Given the description of an element on the screen output the (x, y) to click on. 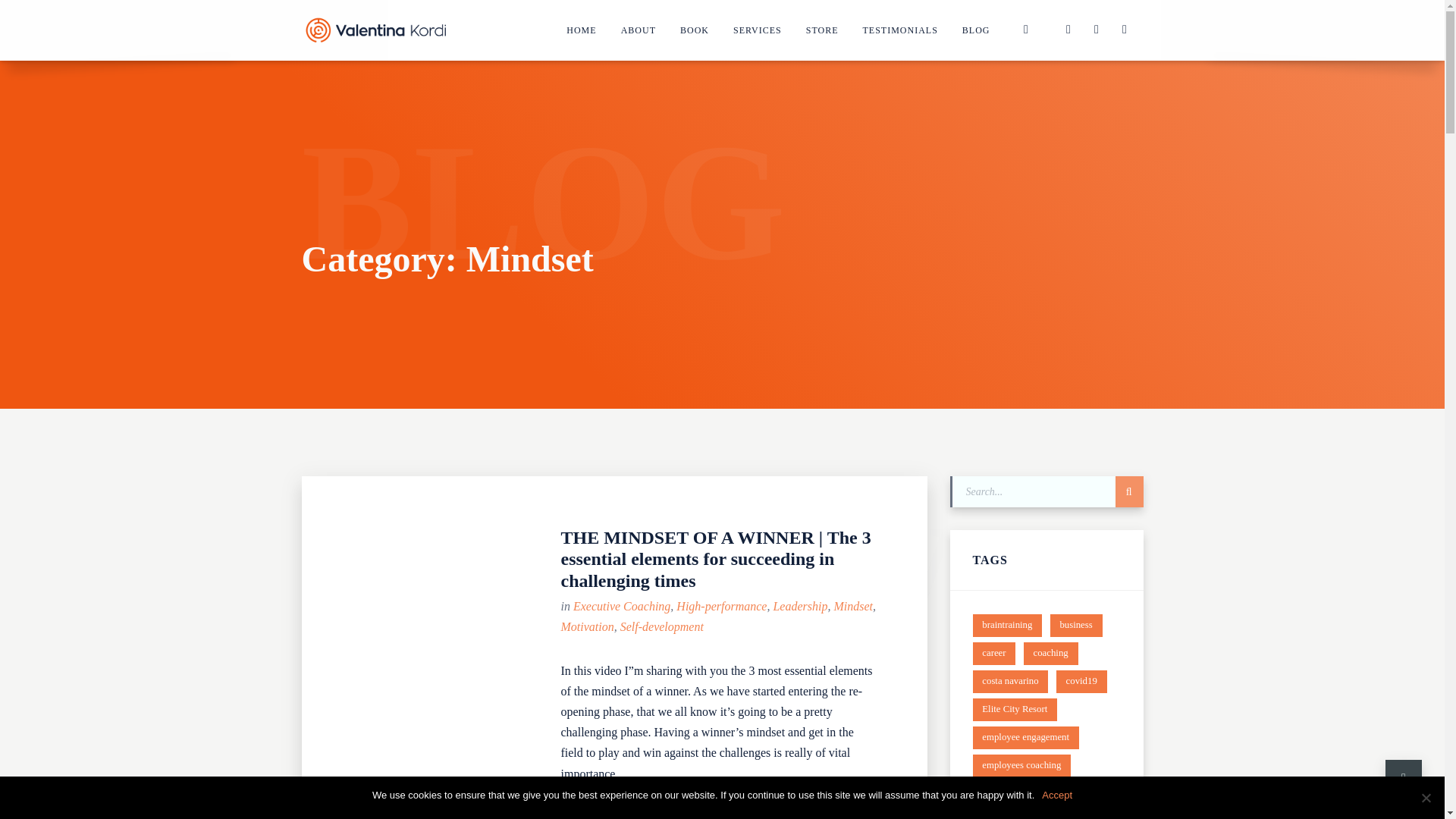
ABOUT (638, 30)
HOME (581, 30)
BLOG (976, 30)
TESTIMONIALS (900, 30)
Executive Coaching (621, 605)
STORE (821, 30)
About (638, 30)
Book (694, 30)
Blog (976, 30)
Motivation (586, 626)
Store (821, 30)
SERVICES (756, 30)
Home (581, 30)
Services (756, 30)
Leadership (800, 605)
